Given the description of an element on the screen output the (x, y) to click on. 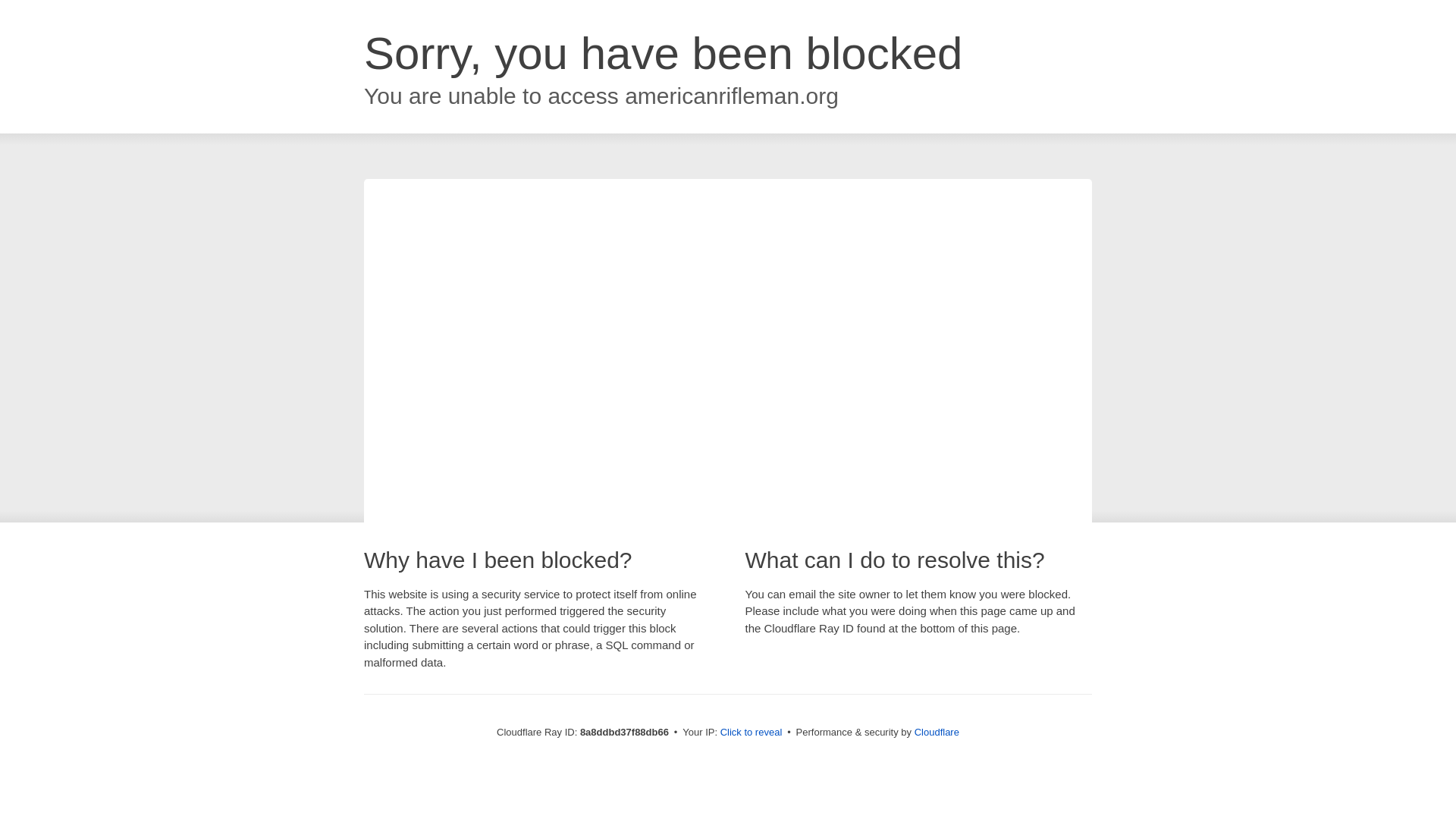
Click to reveal (751, 732)
Cloudflare (936, 731)
